Given the description of an element on the screen output the (x, y) to click on. 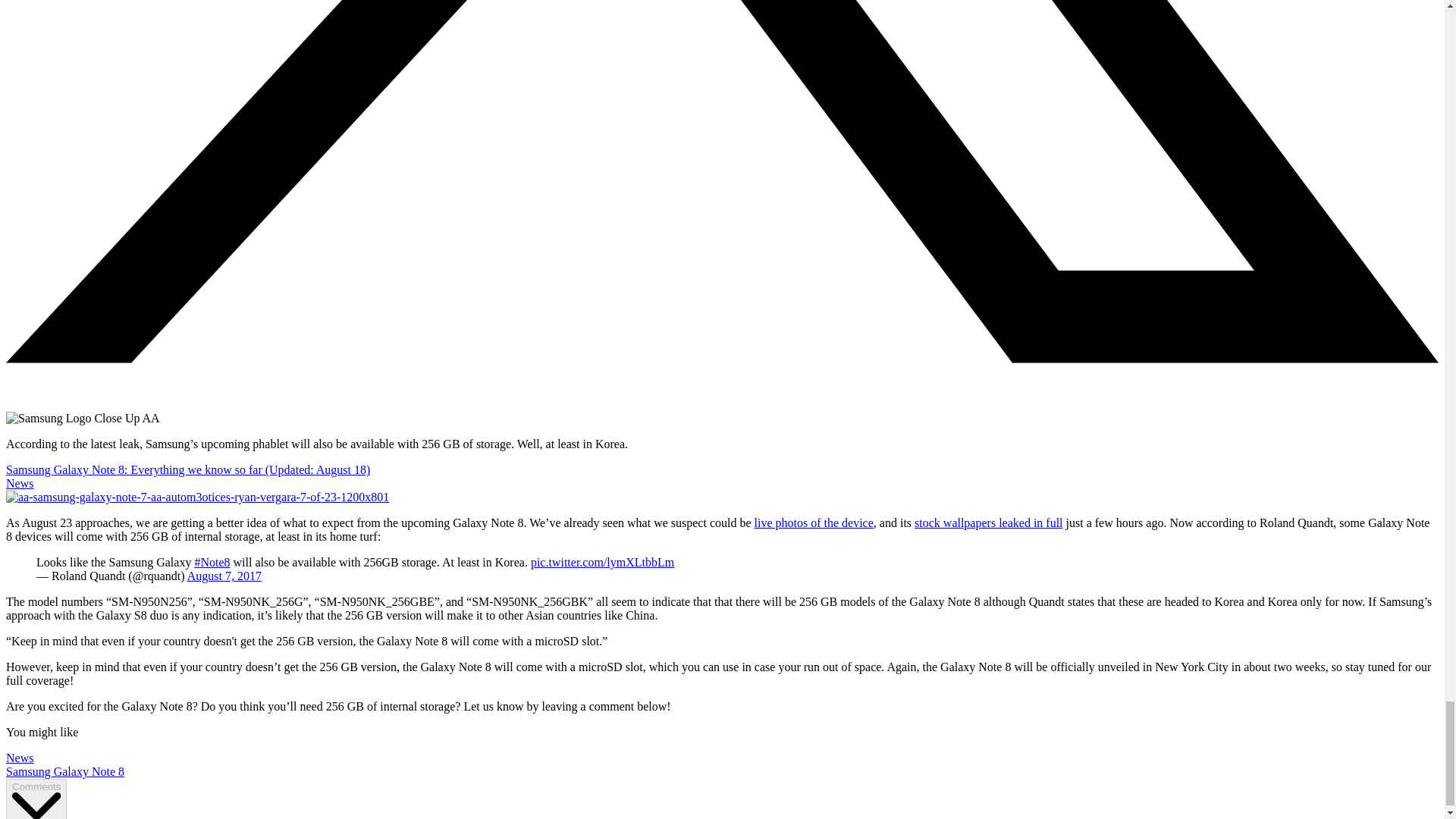
Samsung Galaxy Note 8 (64, 771)
stock wallpapers leaked in full (988, 522)
live photos of the device (813, 522)
News (19, 757)
Samsung Logo Close Up AA (82, 418)
August 7, 2017 (224, 575)
